Given the description of an element on the screen output the (x, y) to click on. 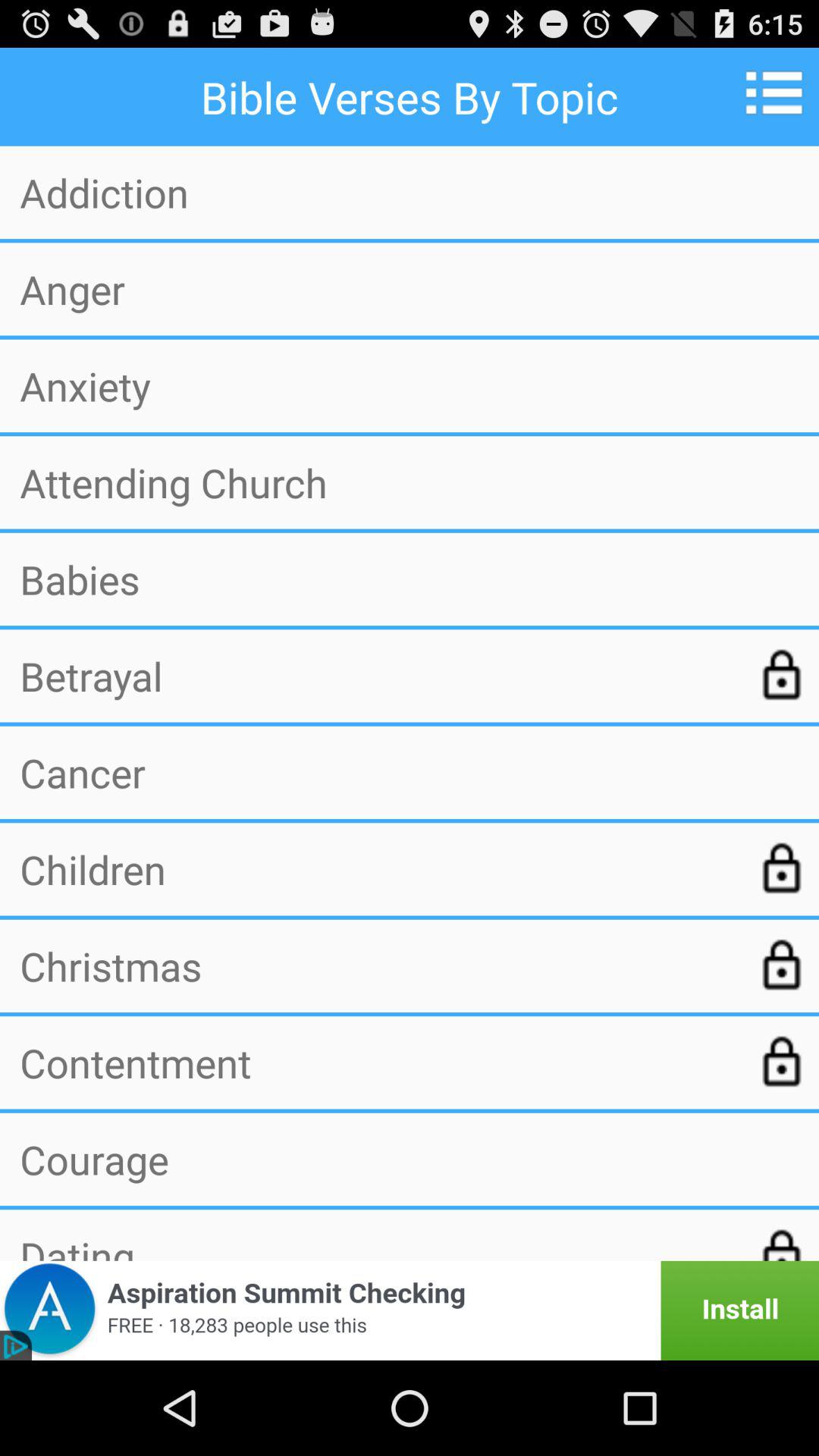
turn on app above the anger item (409, 192)
